Given the description of an element on the screen output the (x, y) to click on. 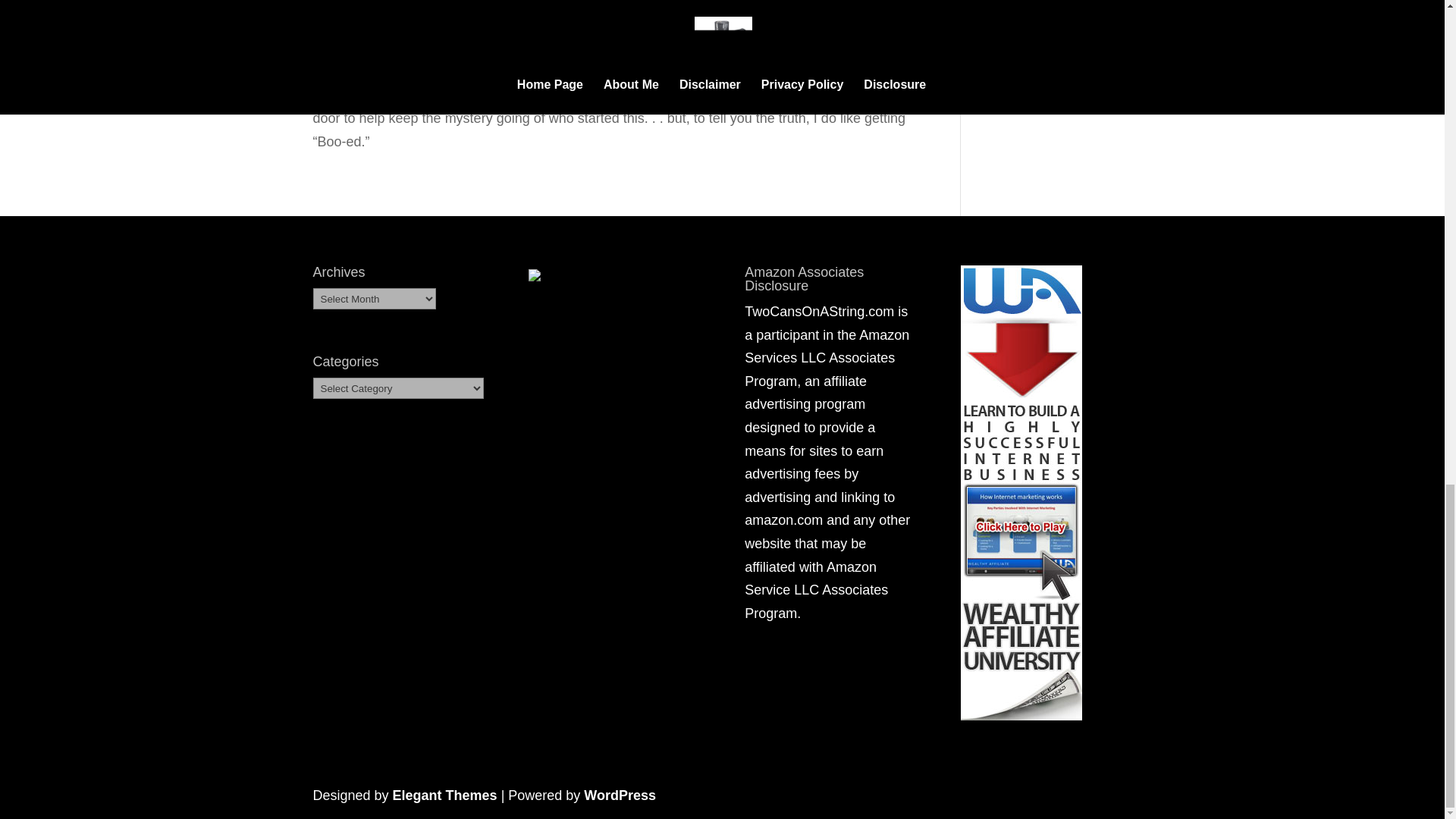
Elegant Themes (445, 795)
WordPress (619, 795)
Premium WordPress Themes (445, 795)
